Given the description of an element on the screen output the (x, y) to click on. 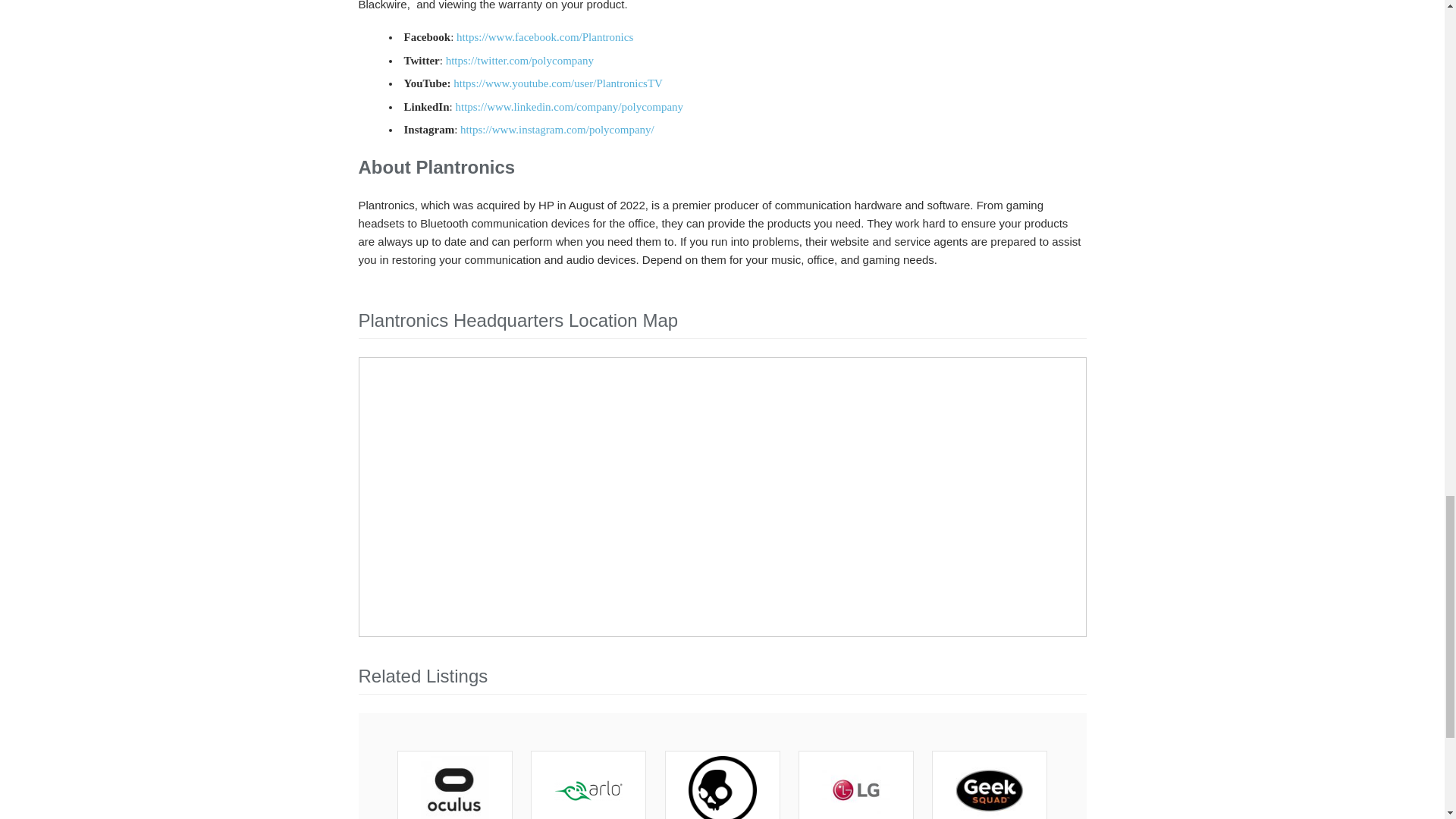
LG TV Customer Service Number 833-378-0003 (855, 788)
Best Buy Geek Squad Customer Service Number 800-433-5778 (989, 788)
Oculus Customer Service Number (454, 788)
Skullcandy Customer Service Number (722, 788)
Arlo Customer Service Number (588, 788)
